Given the description of an element on the screen output the (x, y) to click on. 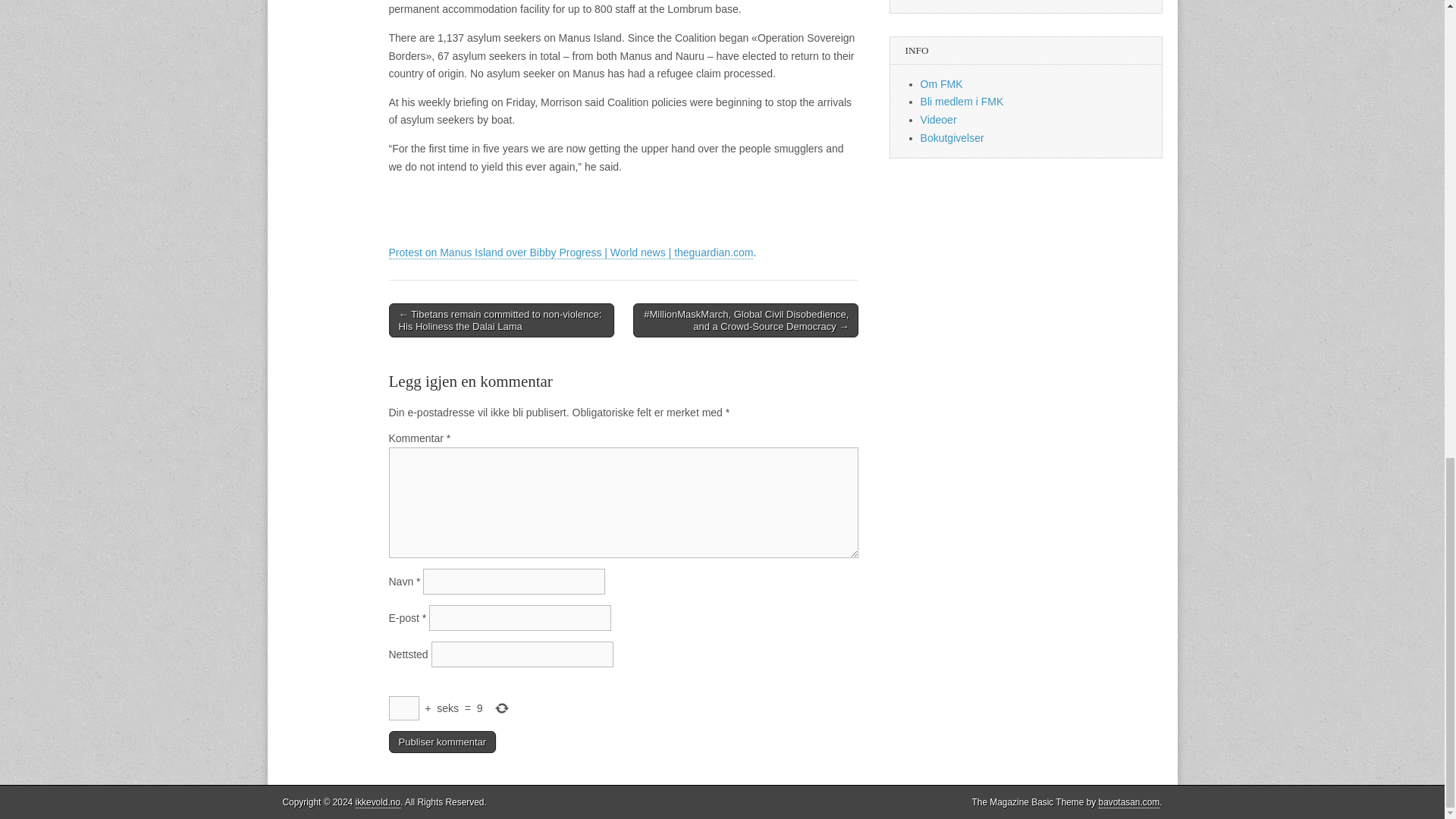
Publiser kommentar (442, 742)
Publiser kommentar (442, 742)
